Given the description of an element on the screen output the (x, y) to click on. 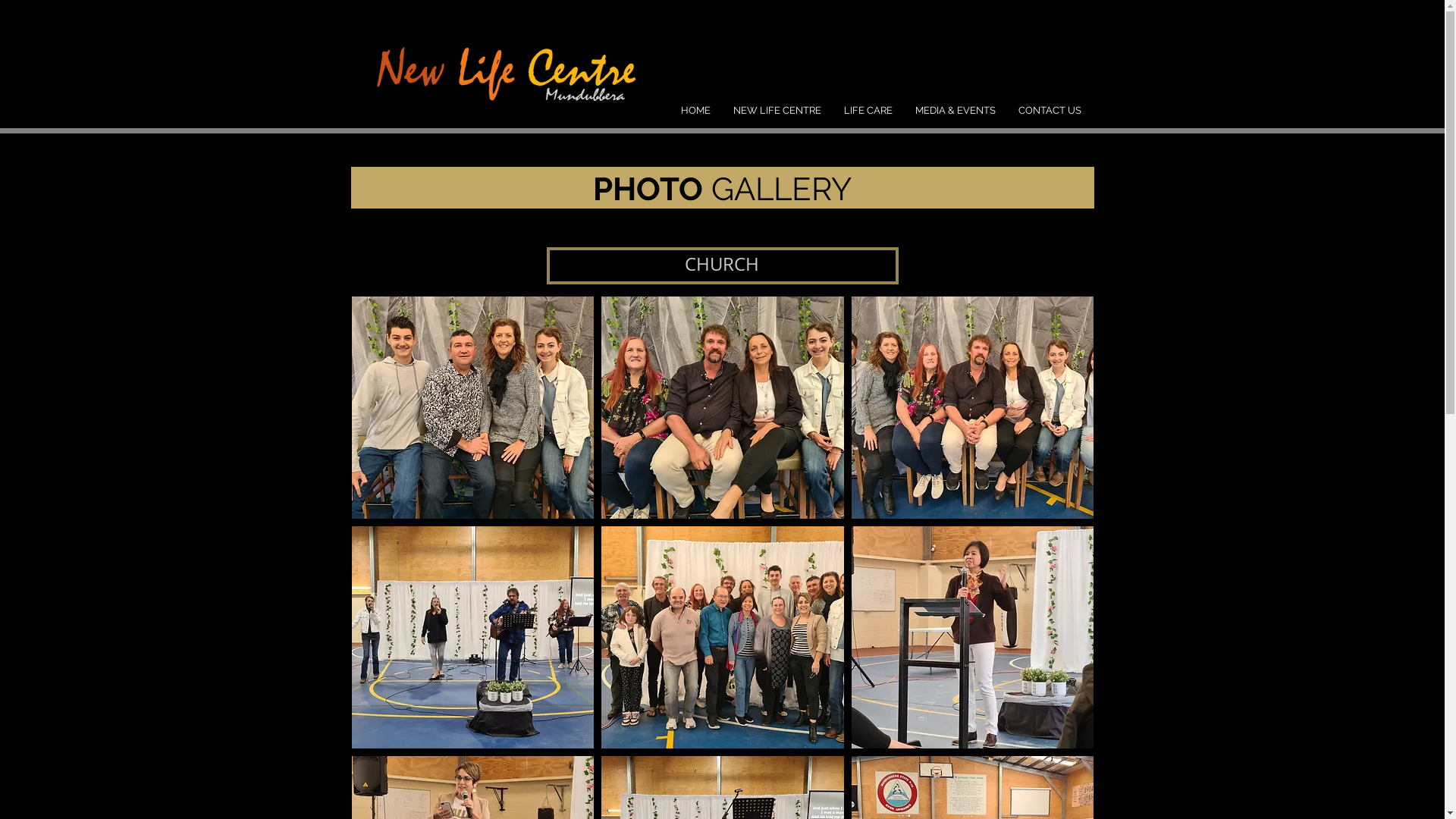
HOME Element type: text (694, 110)
New Life Centre, Mundubbera Logo - Words Only - PNG.png Element type: hover (501, 65)
CONTACT US Element type: text (1049, 110)
LIFE CARE Element type: text (867, 110)
